Given the description of an element on the screen output the (x, y) to click on. 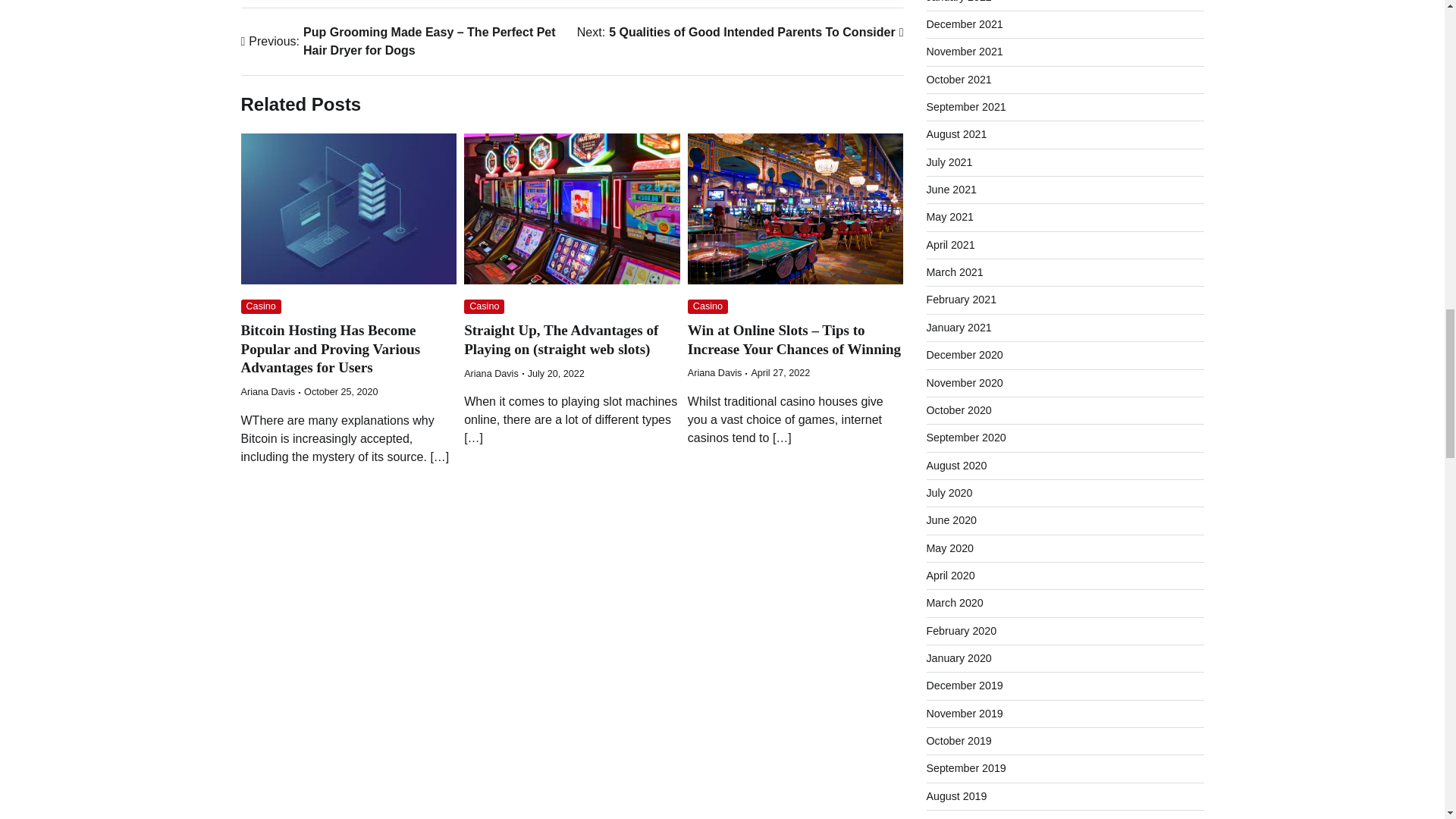
Casino (707, 306)
Casino (261, 306)
Ariana Davis (714, 372)
Casino (483, 306)
Ariana Davis (491, 373)
Ariana Davis (740, 32)
